Given the description of an element on the screen output the (x, y) to click on. 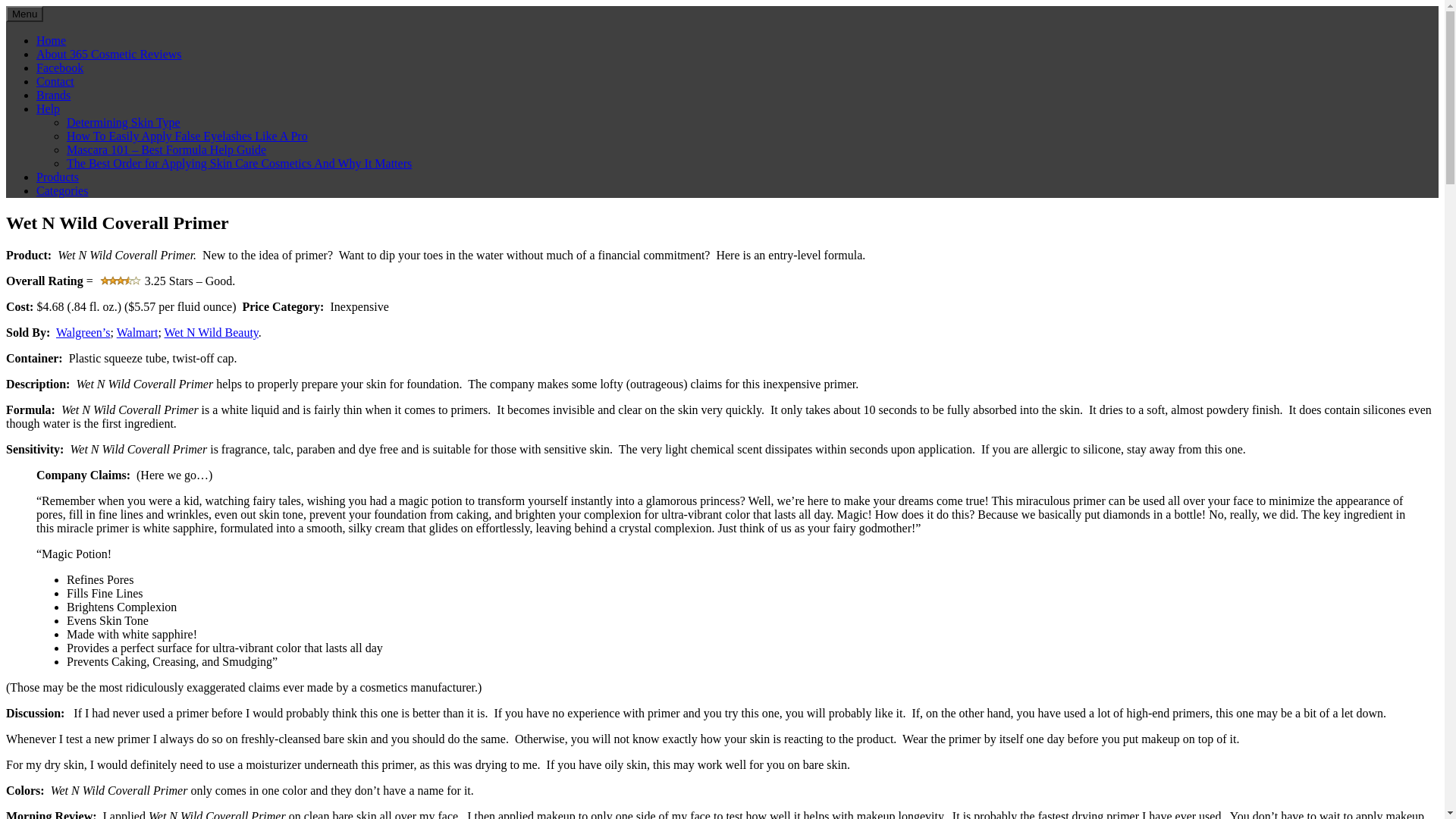
Skip to content Element type: text (5, 5)
Wet N Wild Beauty Element type: text (211, 332)
About 365 Cosmetic Reviews Element type: text (109, 53)
Help Element type: text (47, 108)
Brands Element type: text (53, 94)
March 6, 2017 Element type: text (37, 282)
Walmart Element type: text (137, 332)
Menu Element type: text (24, 13)
How To Easily Apply False Eyelashes Like A Pro Element type: text (186, 135)
Facebook Element type: text (59, 67)
Determining Skin Type Element type: text (123, 122)
Home Element type: text (50, 40)
365 Cosmetic Reviews.com Element type: text (145, 35)
Products Element type: text (57, 176)
Categories Element type: text (61, 190)
Contact Element type: text (55, 81)
